Given the description of an element on the screen output the (x, y) to click on. 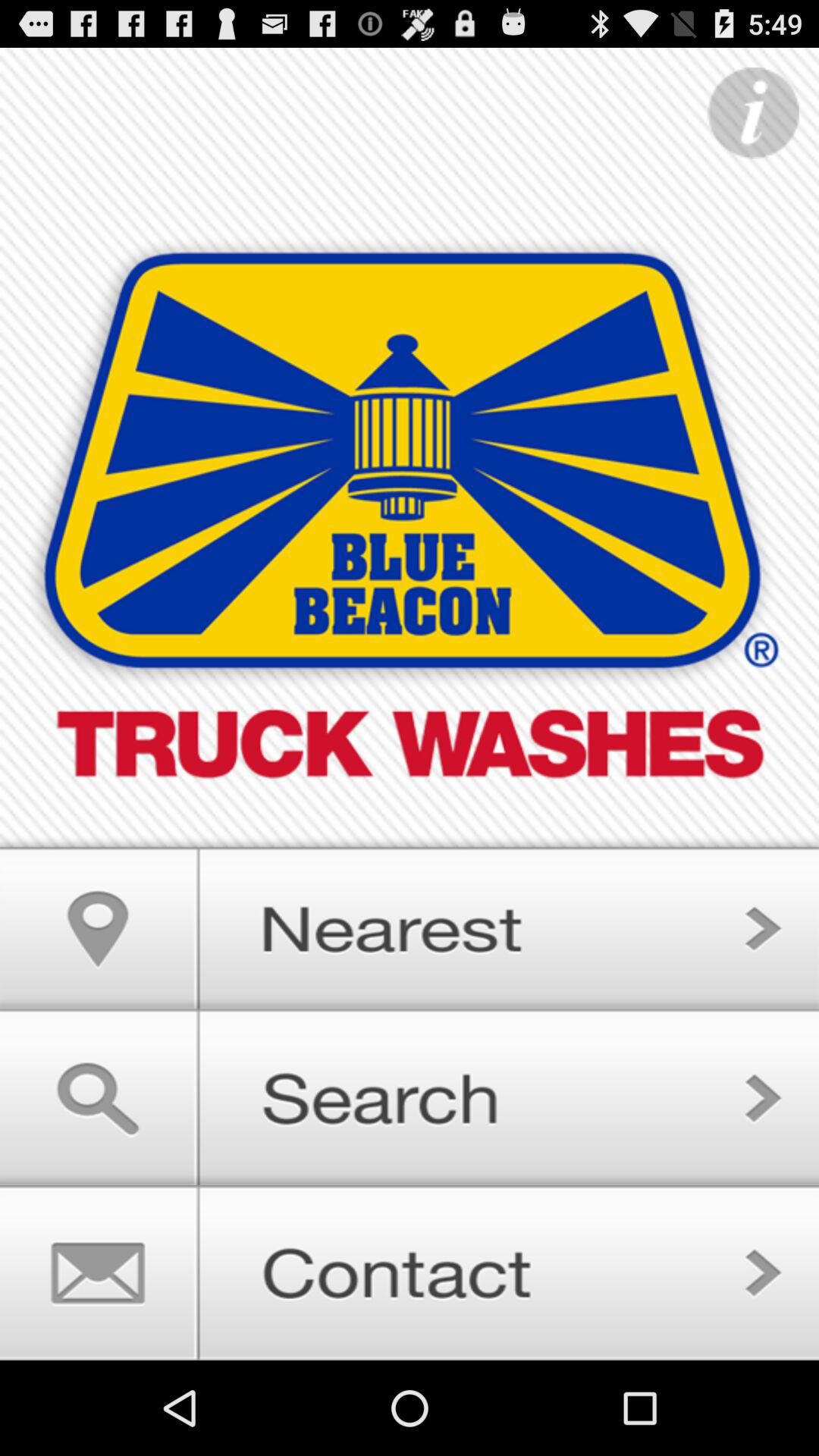
search (409, 1097)
